Given the description of an element on the screen output the (x, y) to click on. 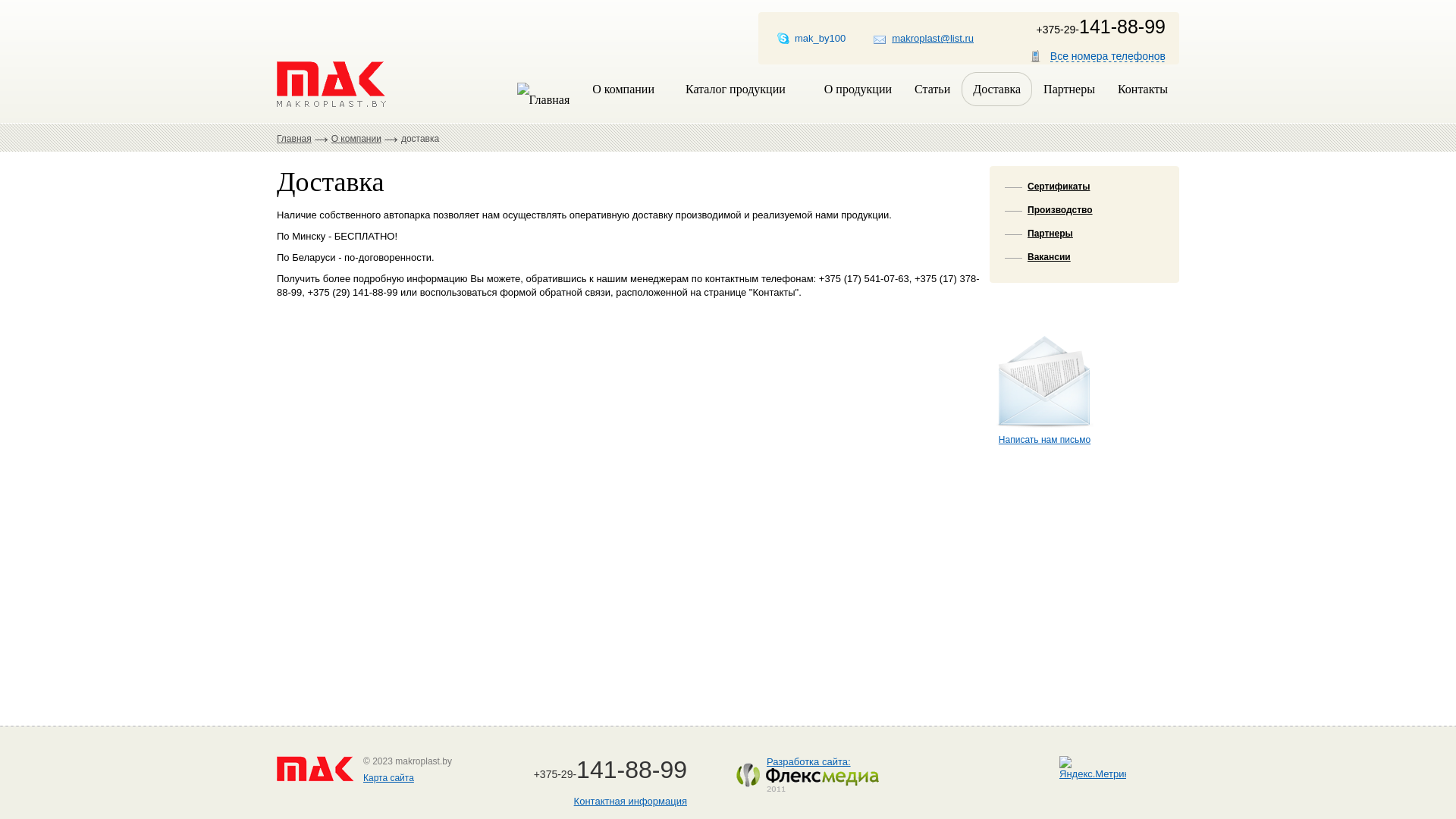
makroplast.by Element type: text (330, 83)
makroplast@list.ru Element type: text (923, 37)
mak_by100 Element type: text (811, 37)
